Given the description of an element on the screen output the (x, y) to click on. 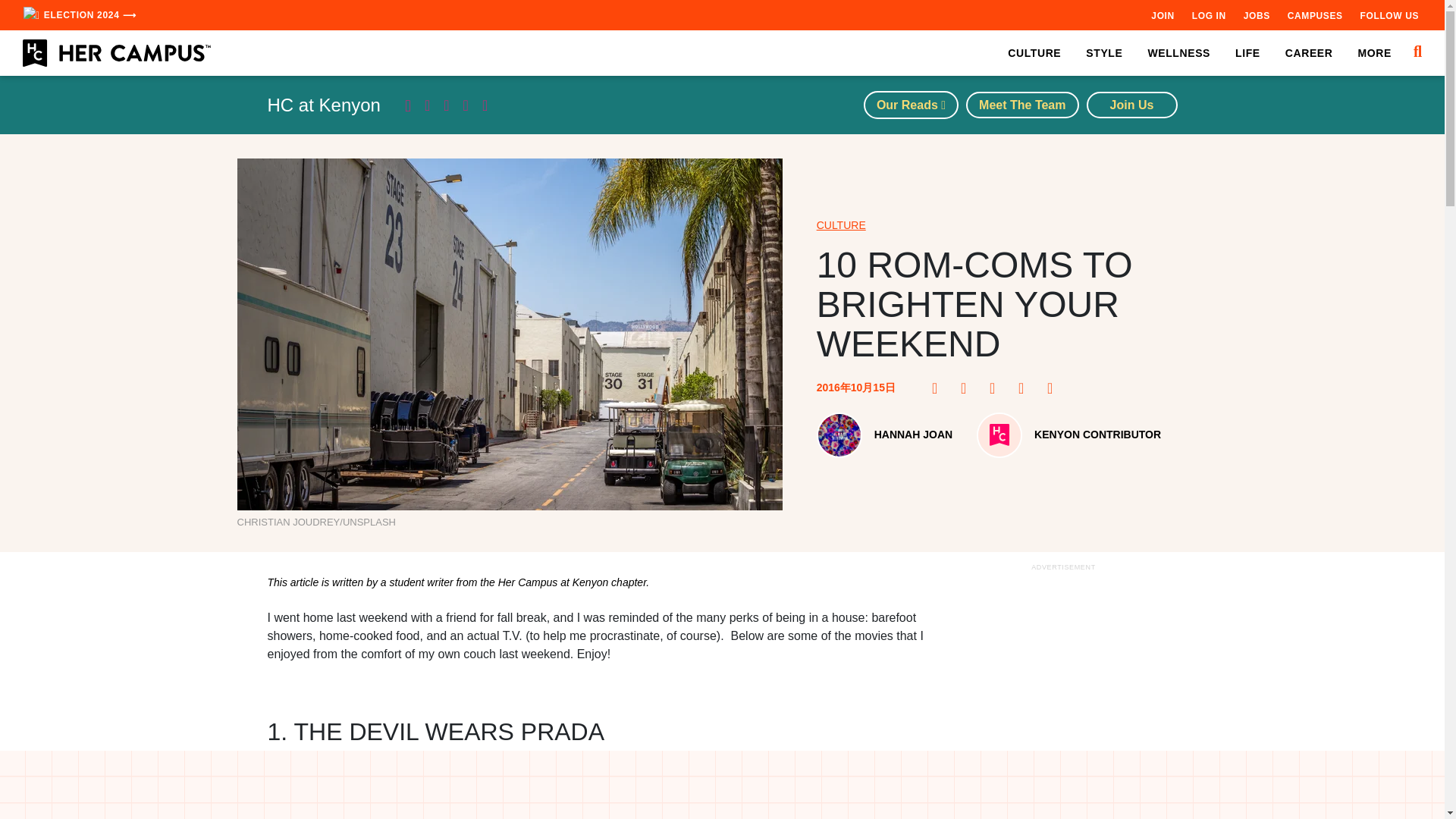
LinkedIn (1025, 388)
Twitter (997, 388)
Email (1054, 388)
Pinterest (967, 388)
CAMPUSES (1314, 15)
JOBS (1256, 15)
LOG IN (1208, 15)
JOIN (1162, 15)
Facebook (939, 388)
